Given the description of an element on the screen output the (x, y) to click on. 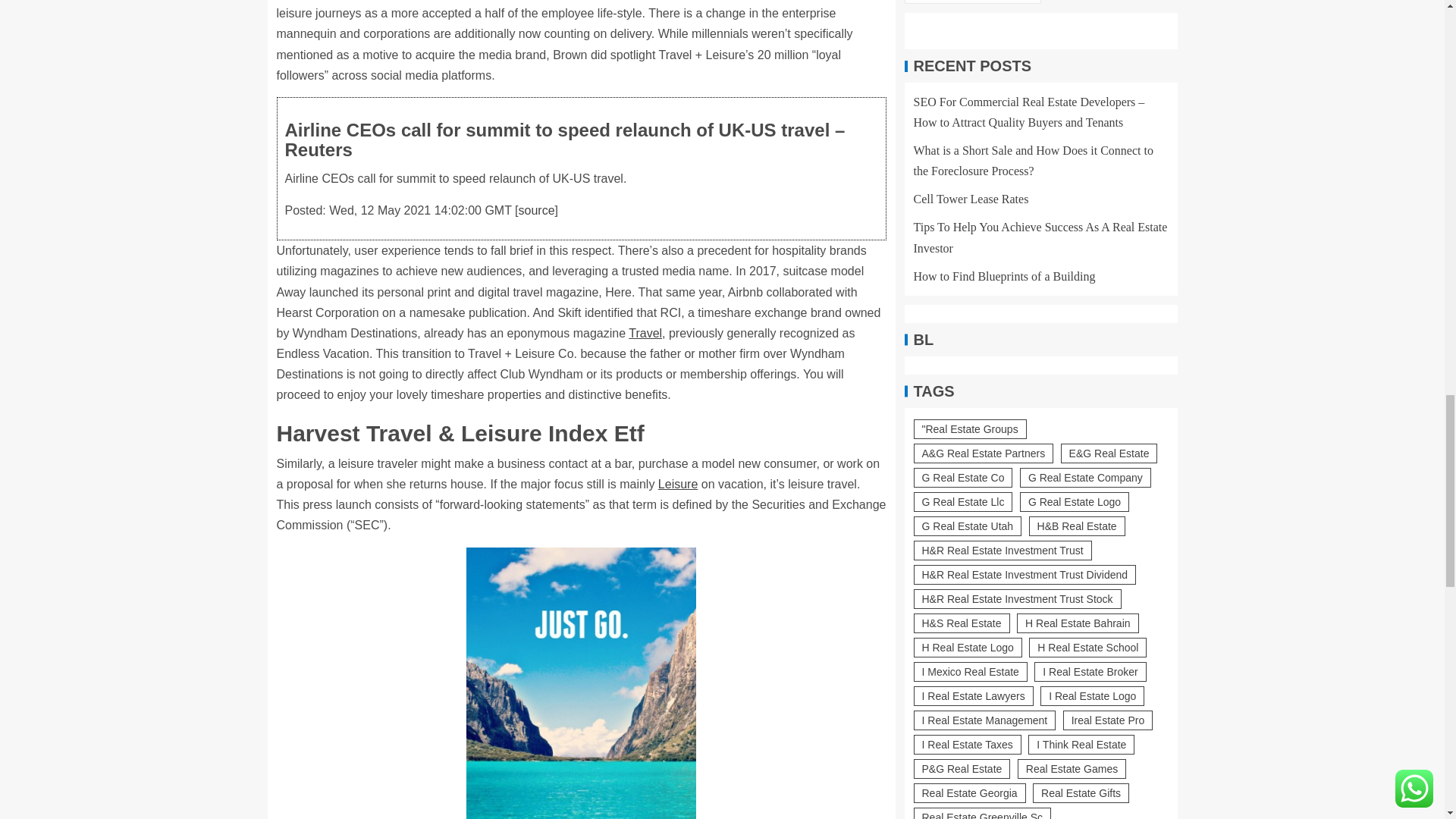
Travel (645, 332)
Seedbacklink (954, 417)
Leisure (677, 483)
source (536, 210)
